Given the description of an element on the screen output the (x, y) to click on. 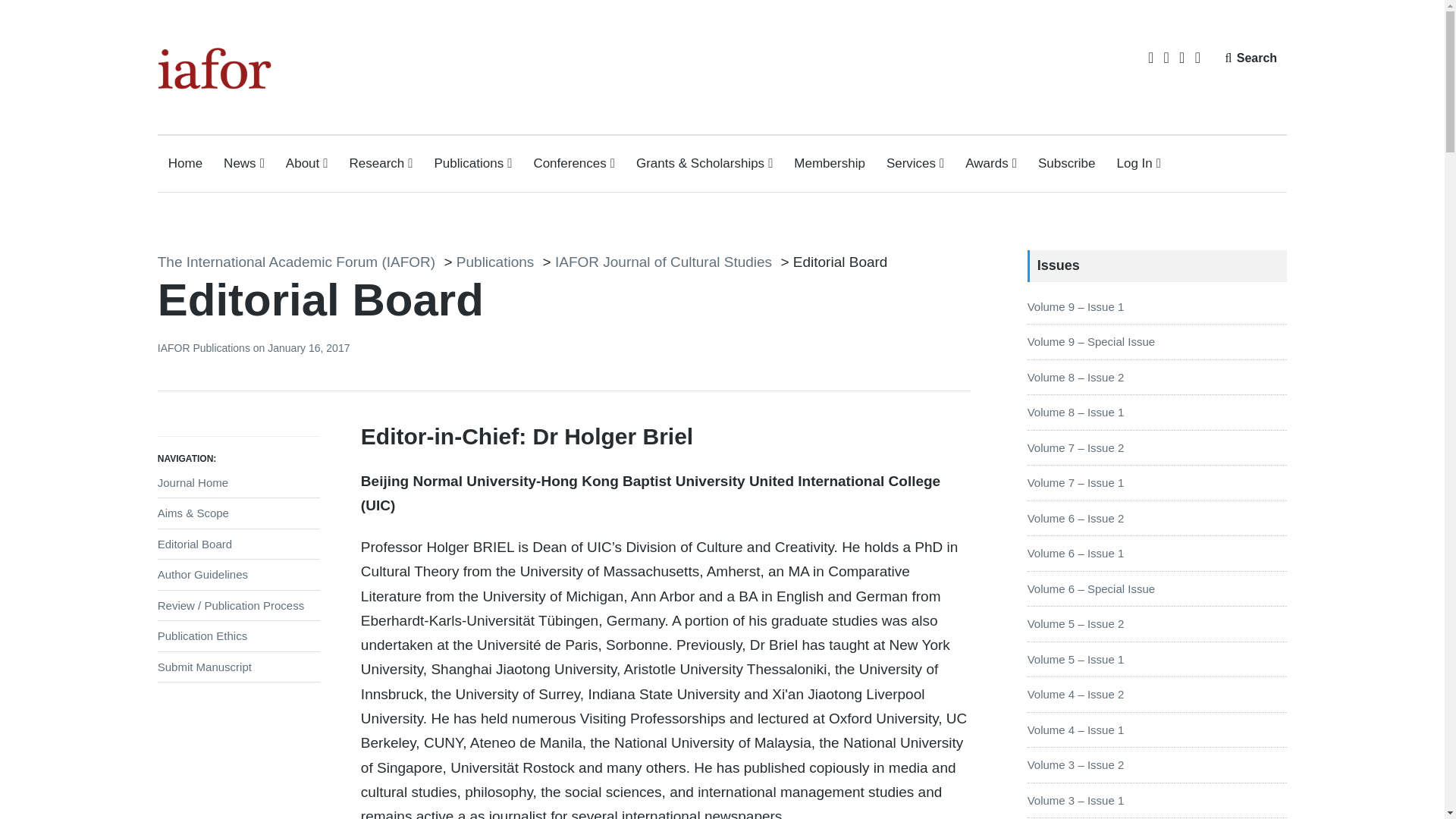
Search (1250, 57)
Home (185, 163)
IAFOR News (244, 163)
News (244, 163)
Research (380, 163)
About IAFOR (307, 163)
About (307, 163)
